Given the description of an element on the screen output the (x, y) to click on. 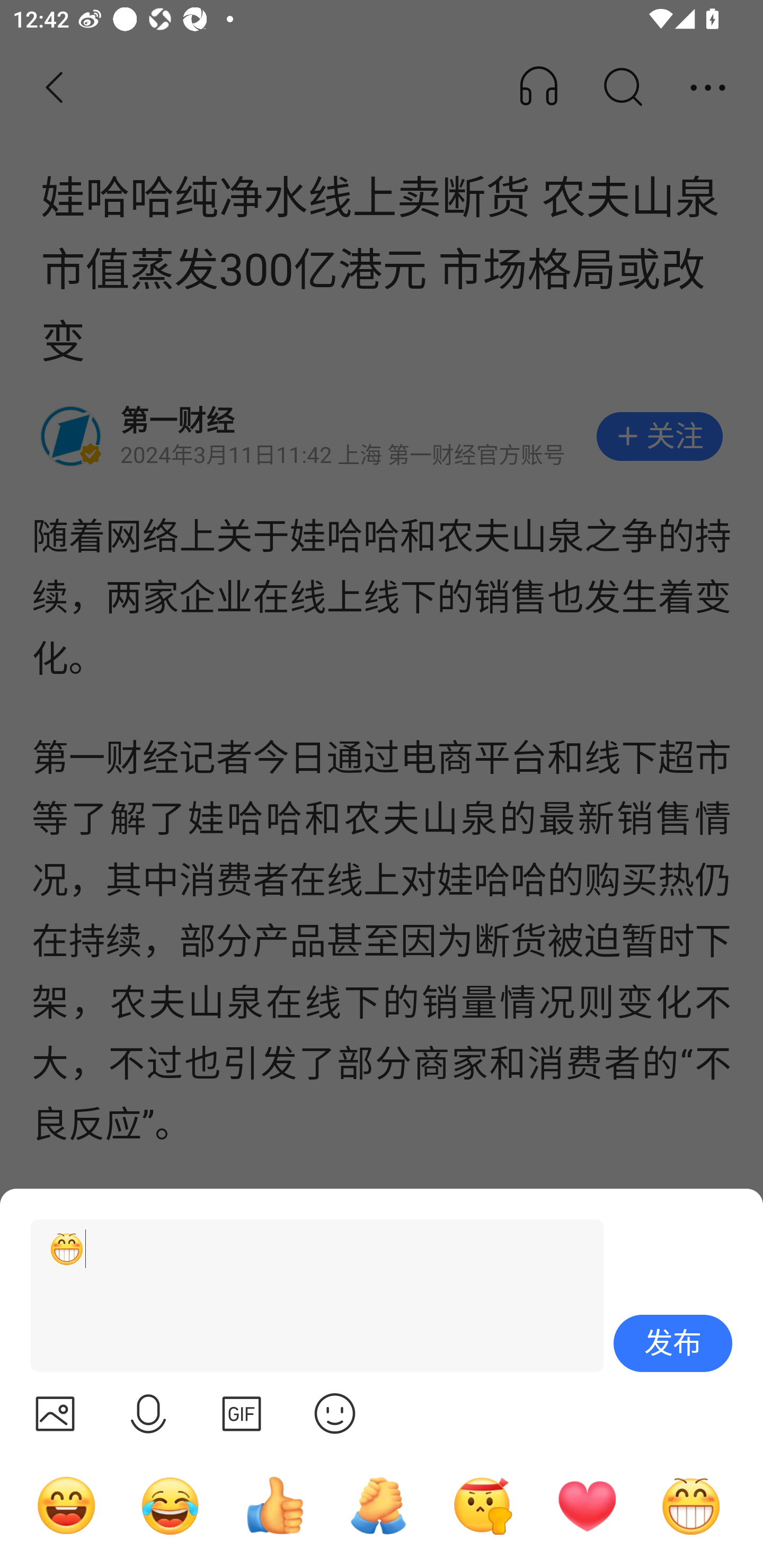
[呲牙] (308, 1295)
发布 (672, 1343)
 (54, 1413)
 (148, 1413)
 (241, 1413)
 (334, 1413)
哈哈 (66, 1505)
哭笑 (170, 1505)
点赞 (274, 1505)
加油 (378, 1505)
奋斗 (482, 1505)
心 (586, 1505)
呲牙 (690, 1505)
